Given the description of an element on the screen output the (x, y) to click on. 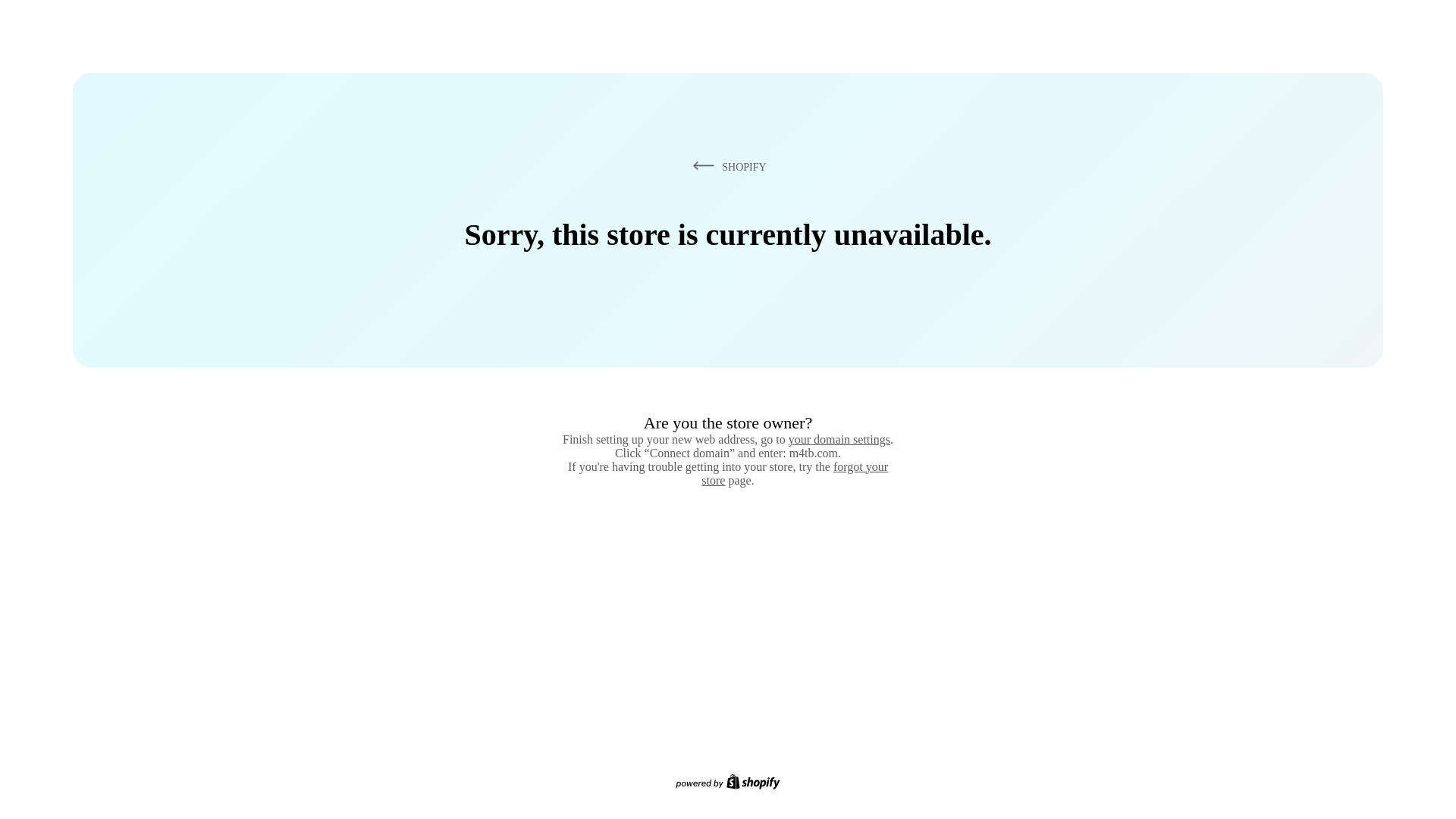
SHOPIFY (726, 166)
your domain settings (839, 439)
forgot your store (794, 473)
